Given the description of an element on the screen output the (x, y) to click on. 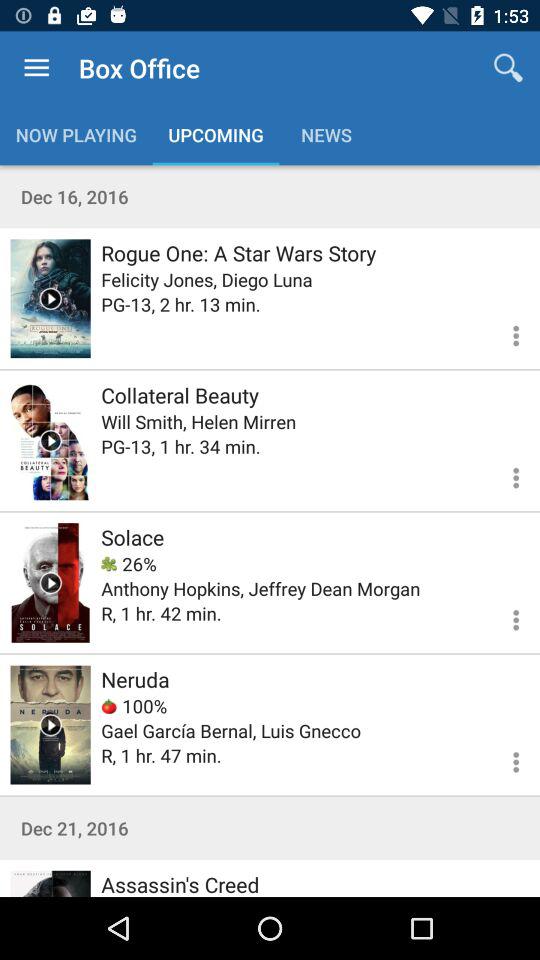
open neruda icon (135, 679)
